Given the description of an element on the screen output the (x, y) to click on. 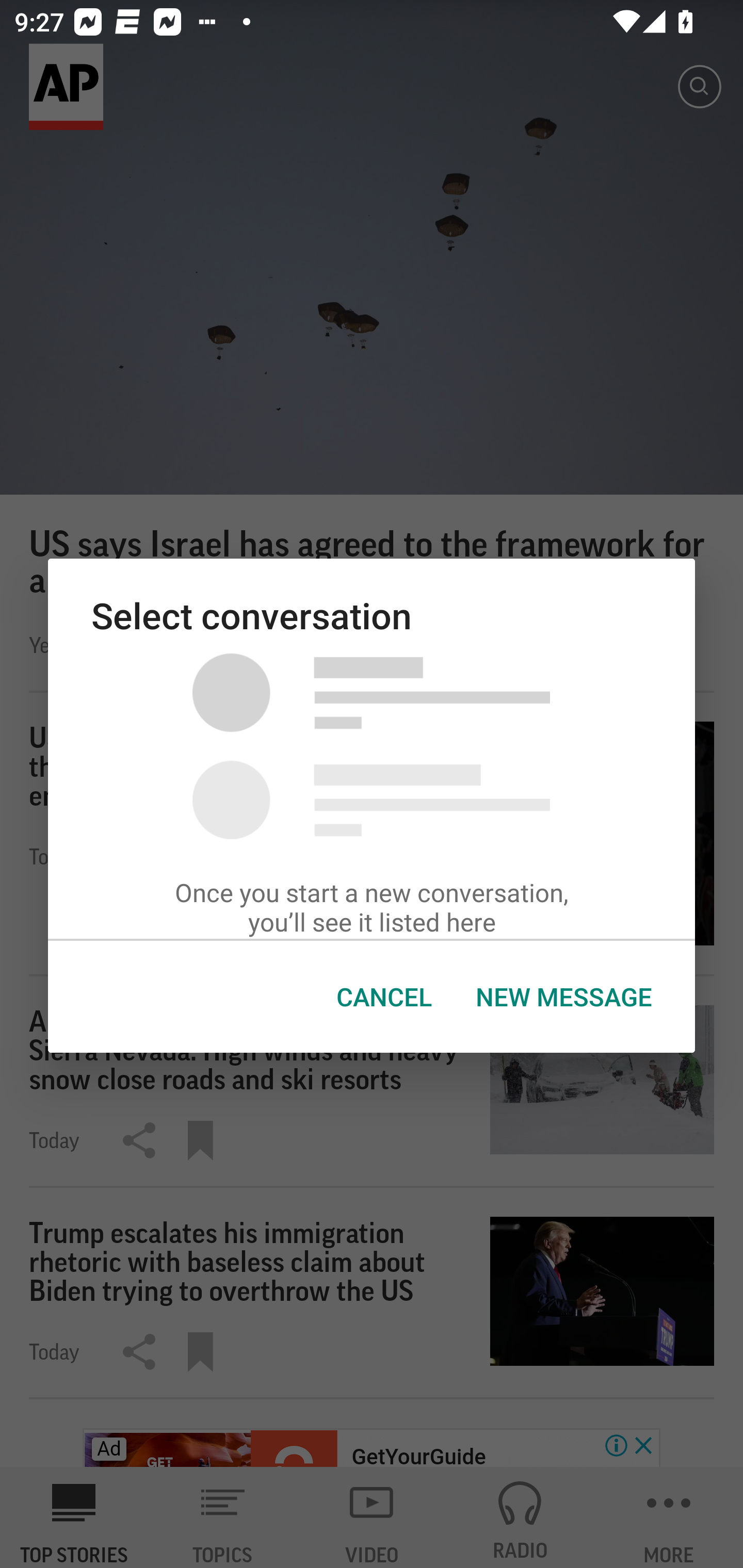
CANCEL (384, 996)
NEW MESSAGE (563, 996)
